Given the description of an element on the screen output the (x, y) to click on. 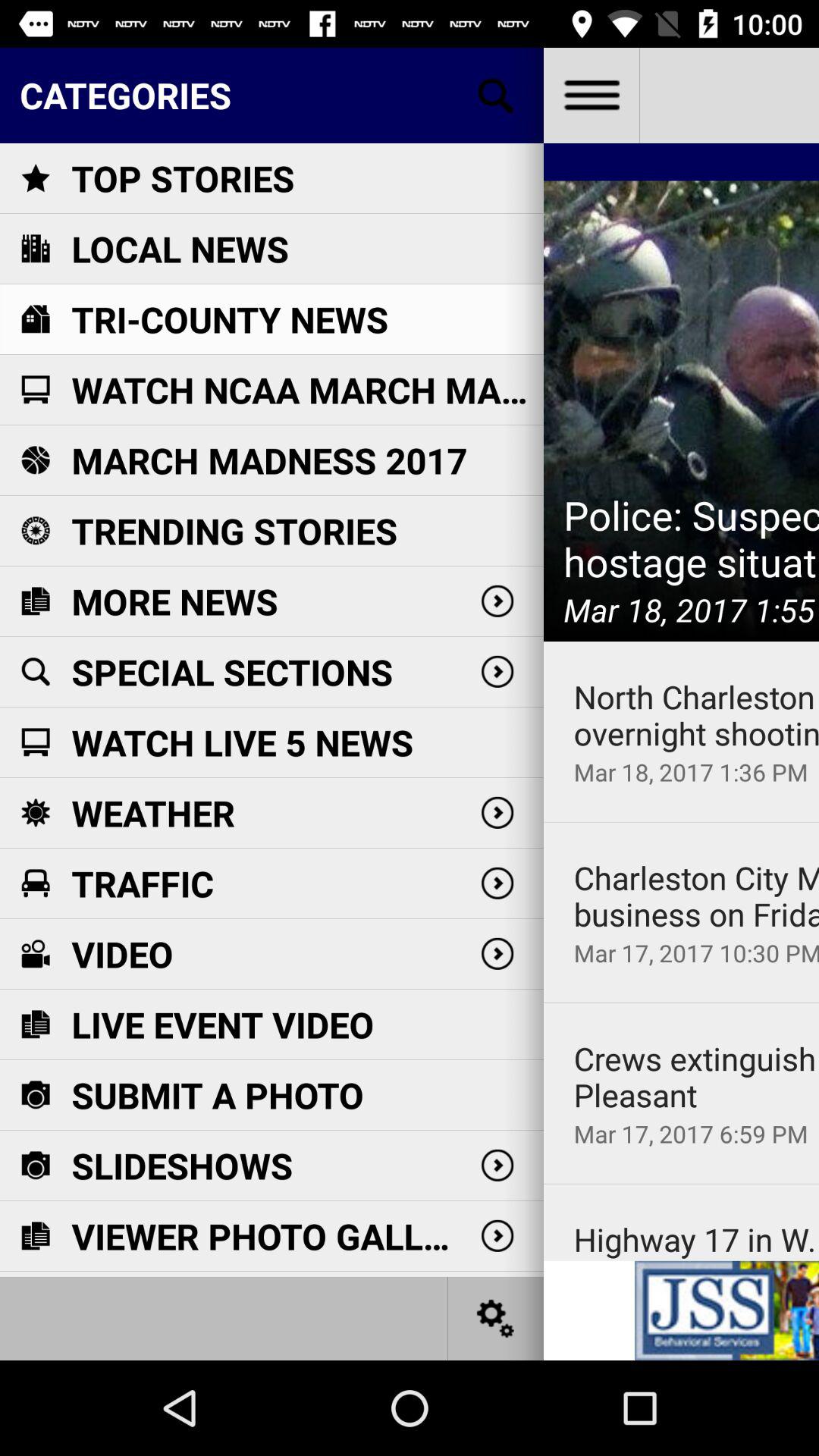
turn on categories item (271, 95)
